Given the description of an element on the screen output the (x, y) to click on. 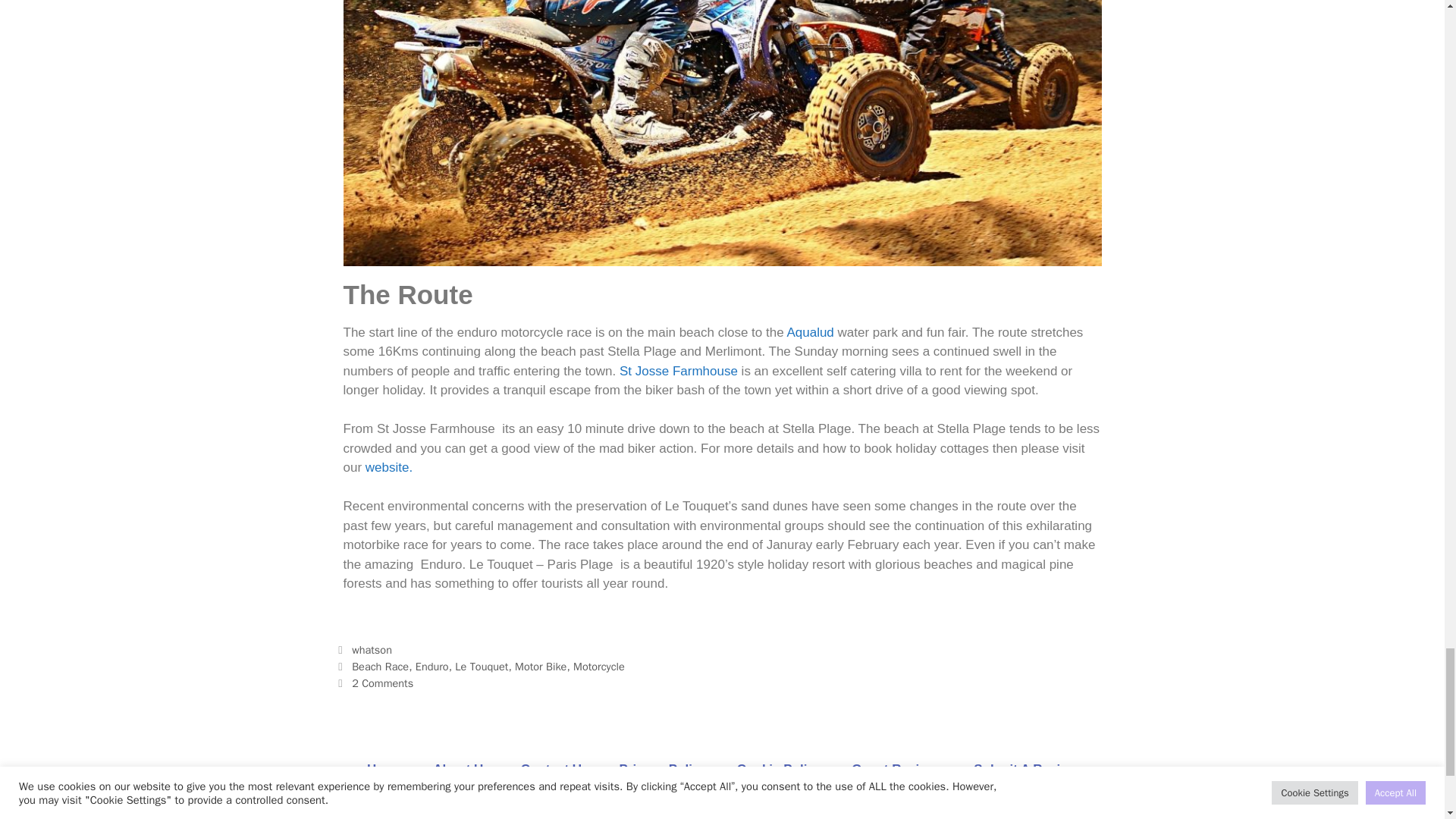
Aqua (801, 332)
